Given the description of an element on the screen output the (x, y) to click on. 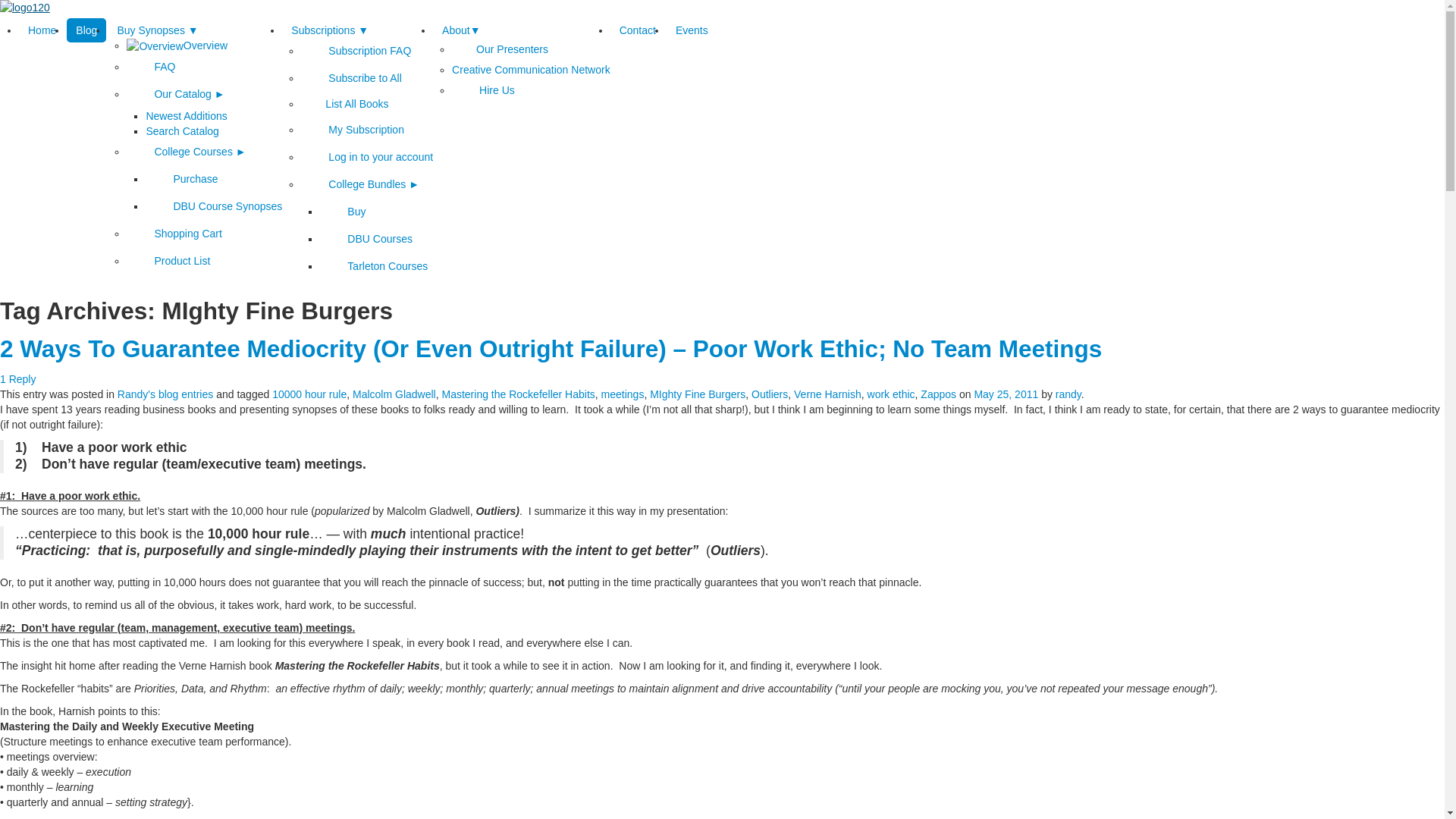
Subscribe to All Element type: text (351, 78)
DBU Courses Element type: text (366, 238)
List All Books Element type: text (344, 103)
May 25, 2011 Element type: text (1005, 394)
randy Element type: text (1068, 394)
work ethic Element type: text (891, 394)
Newest Additions Element type: text (185, 115)
Home Element type: text (41, 30)
Hire Us Element type: text (482, 90)
10000 hour rule Element type: text (309, 394)
Contact Element type: text (637, 30)
Mastering the Rockefeller Habits Element type: text (517, 394)
My Subscription Element type: text (352, 129)
Subscription FAQ Element type: text (356, 50)
DBU Course Synopses Element type: text (213, 206)
Randy's blog entries Element type: text (165, 394)
Our Presenters Element type: text (499, 49)
FAQ Element type: text (150, 66)
Malcolm Gladwell Element type: text (394, 394)
1 Reply Element type: text (17, 379)
Outliers Element type: text (769, 394)
Blog Element type: text (86, 30)
Overview Element type: text (176, 45)
Product List Element type: text (168, 260)
meetings Element type: text (622, 394)
Creative Communication Network Element type: text (530, 69)
Zappos Element type: text (938, 394)
Purchase Element type: text (181, 178)
Log in to your account Element type: text (367, 156)
Search Catalog Element type: text (182, 131)
Shopping Cart Element type: text (174, 233)
Verne Harnish Element type: text (827, 394)
Buy Element type: text (342, 211)
Tarleton Courses Element type: text (373, 266)
MIghty Fine Burgers Element type: text (697, 394)
Events Element type: text (691, 30)
